Given the description of an element on the screen output the (x, y) to click on. 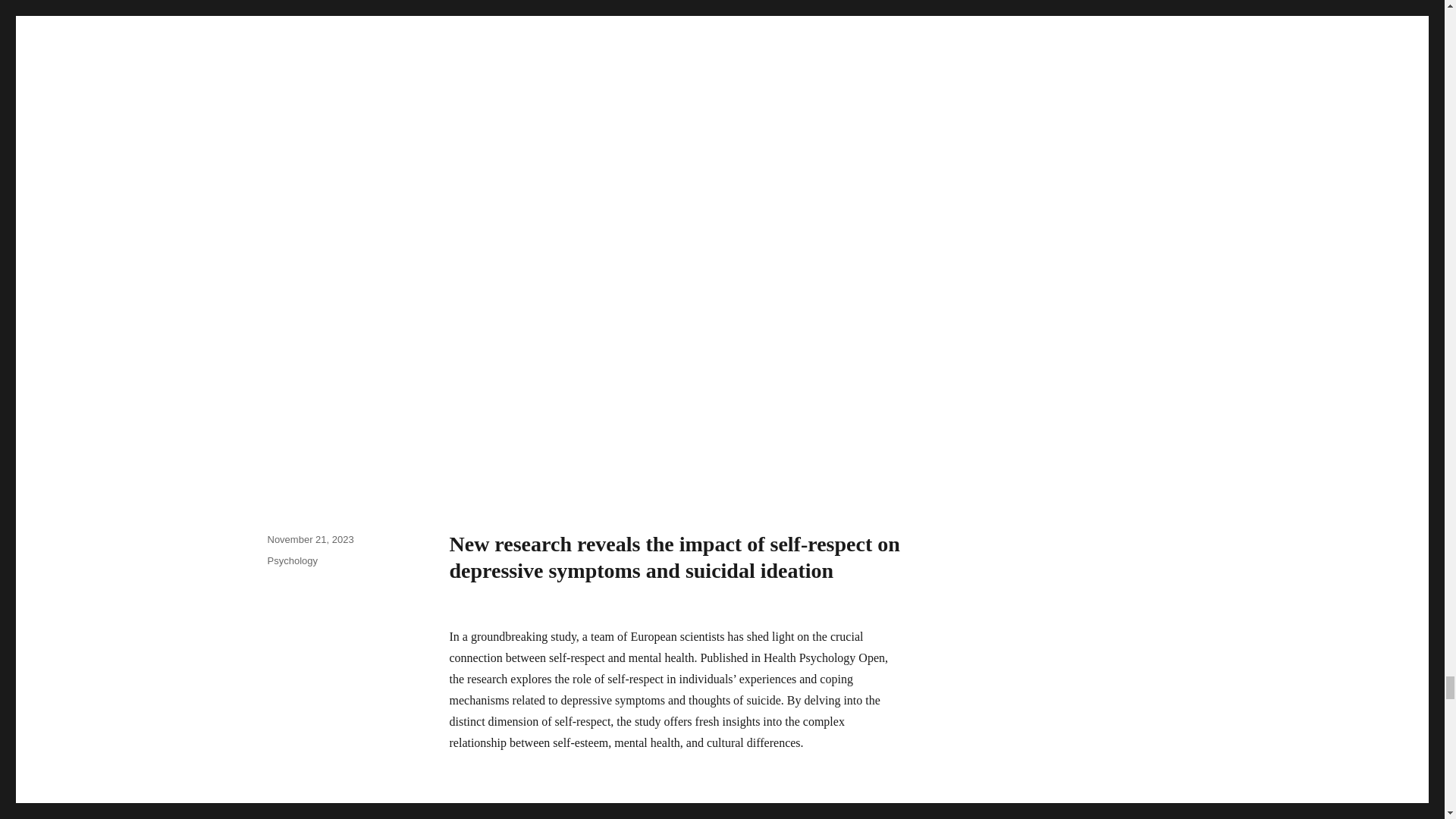
The Link Between Hygiene and Mental Health (676, 796)
